Given the description of an element on the screen output the (x, y) to click on. 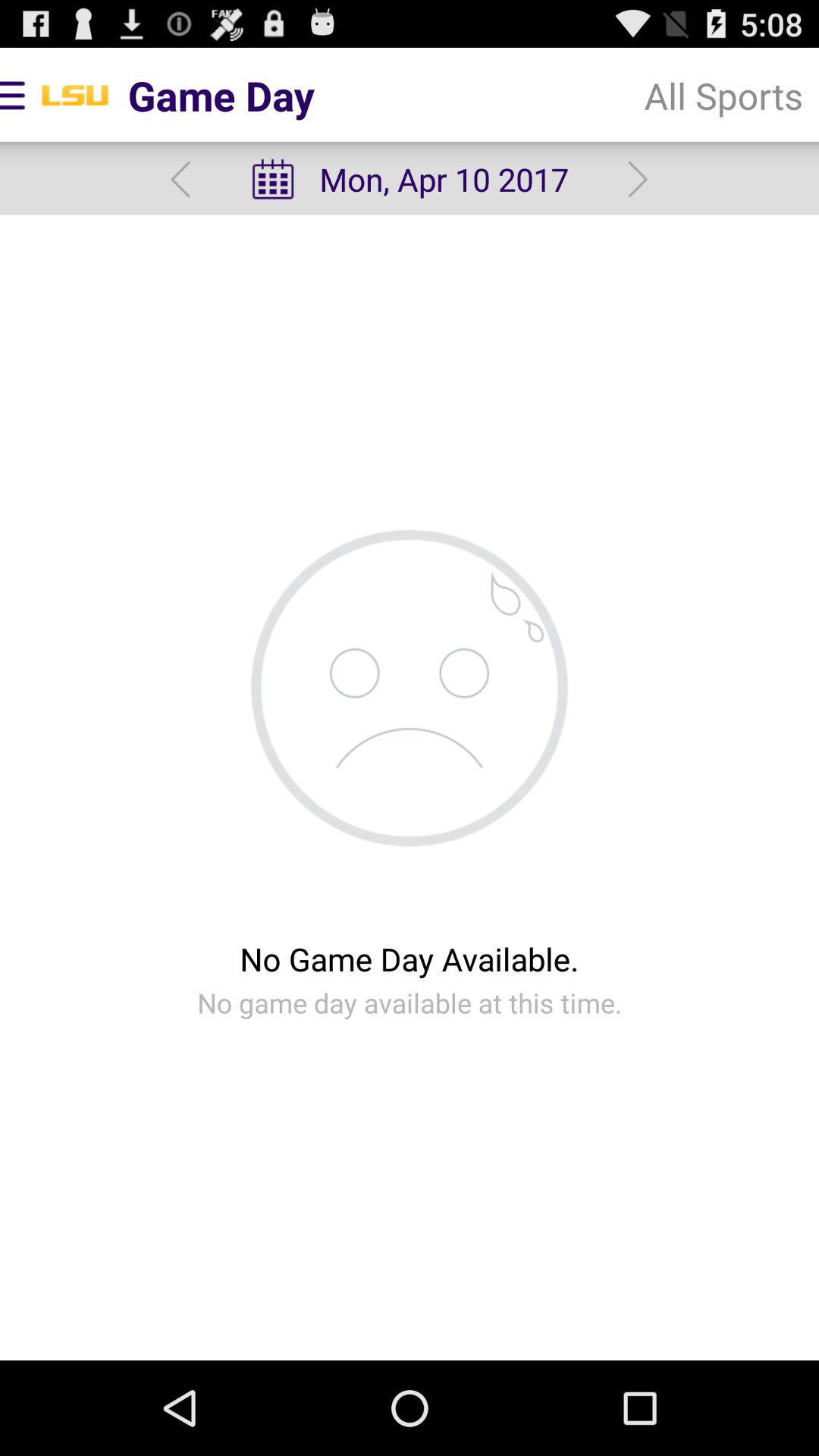
next day in calender (637, 178)
